Given the description of an element on the screen output the (x, y) to click on. 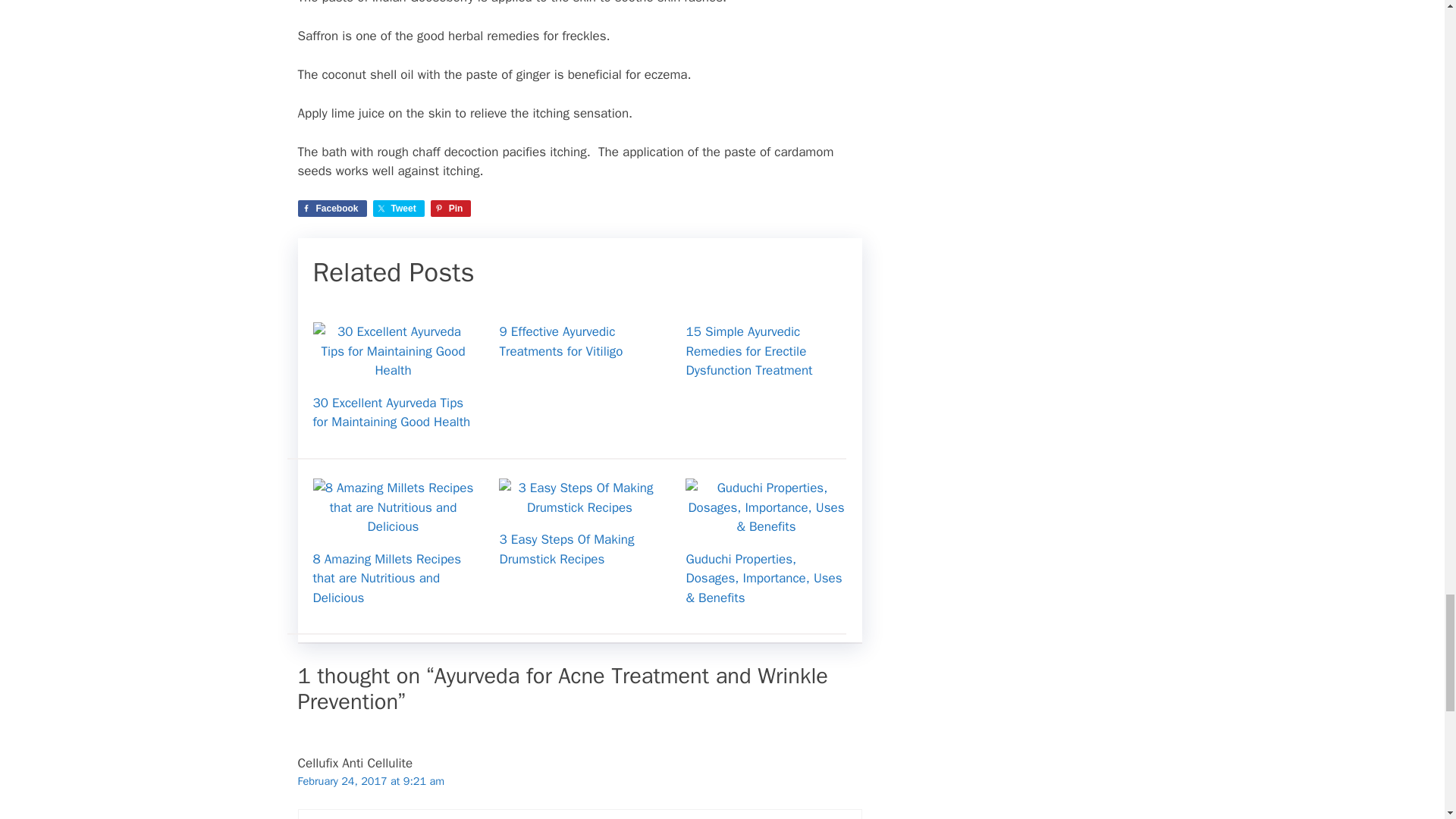
8 Amazing Millets Recipes that are Nutritious and Delicious (387, 578)
Share on Pinterest (450, 208)
Share on Twitter (398, 208)
30 Excellent Ayurveda Tips for Maintaining Good Health (393, 370)
30 Excellent Ayurveda Tips for Maintaining Good Health (391, 412)
3 Easy Steps Of Making Drumstick Recipes (579, 507)
Share on Facebook (331, 208)
Facebook (331, 208)
9 Effective Ayurvedic Treatments for Vitiligo (561, 341)
Pin (450, 208)
Tweet (398, 208)
8 Amazing Millets Recipes that are Nutritious and Delicious (393, 526)
